Given the description of an element on the screen output the (x, y) to click on. 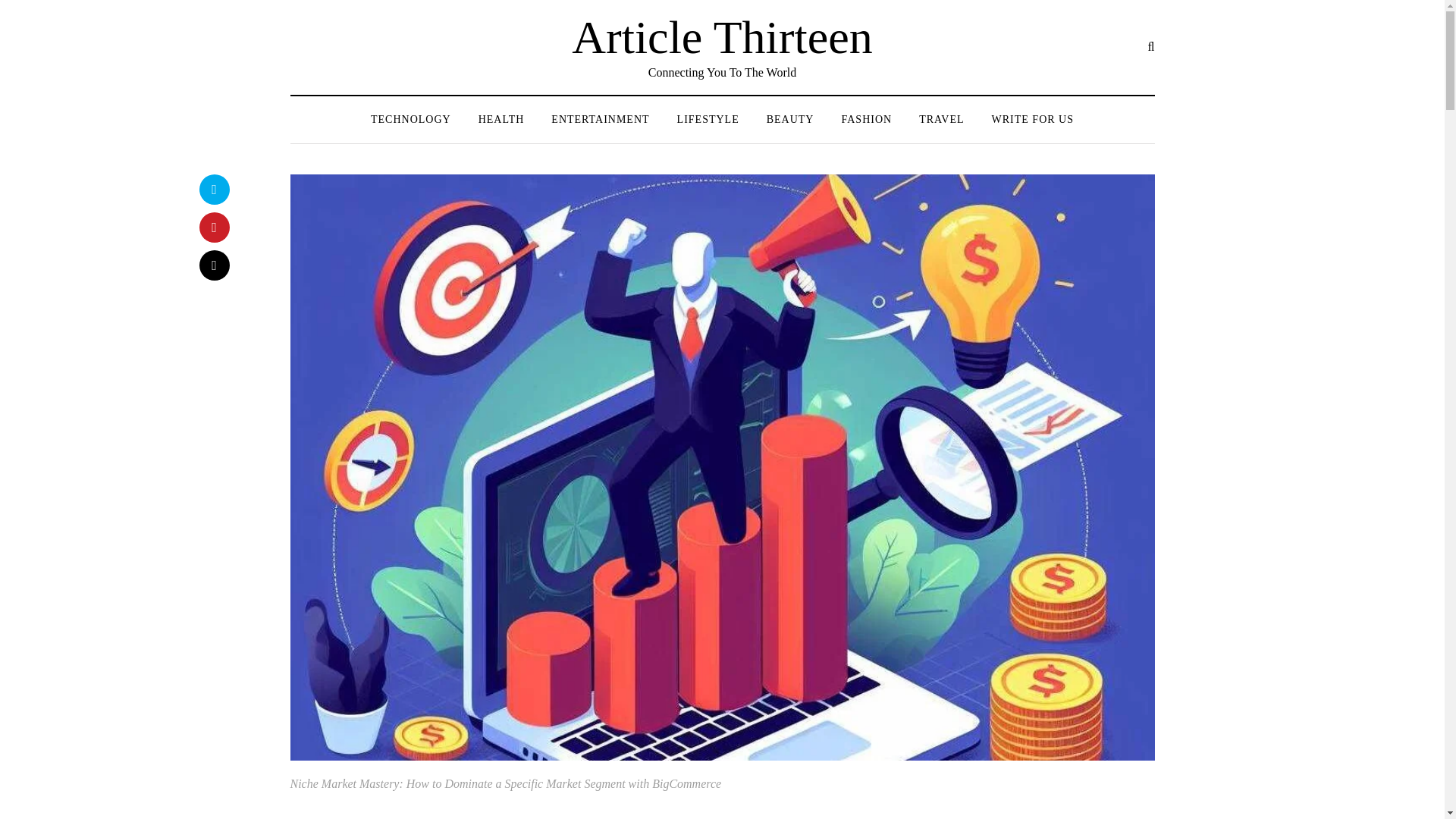
TRAVEL (940, 119)
Article Thirteen (722, 37)
FASHION (866, 119)
HEALTH (501, 119)
WRITE FOR US (1032, 119)
LIFESTYLE (707, 119)
BEAUTY (790, 119)
TECHNOLOGY (410, 119)
ENTERTAINMENT (599, 119)
